Given the description of an element on the screen output the (x, y) to click on. 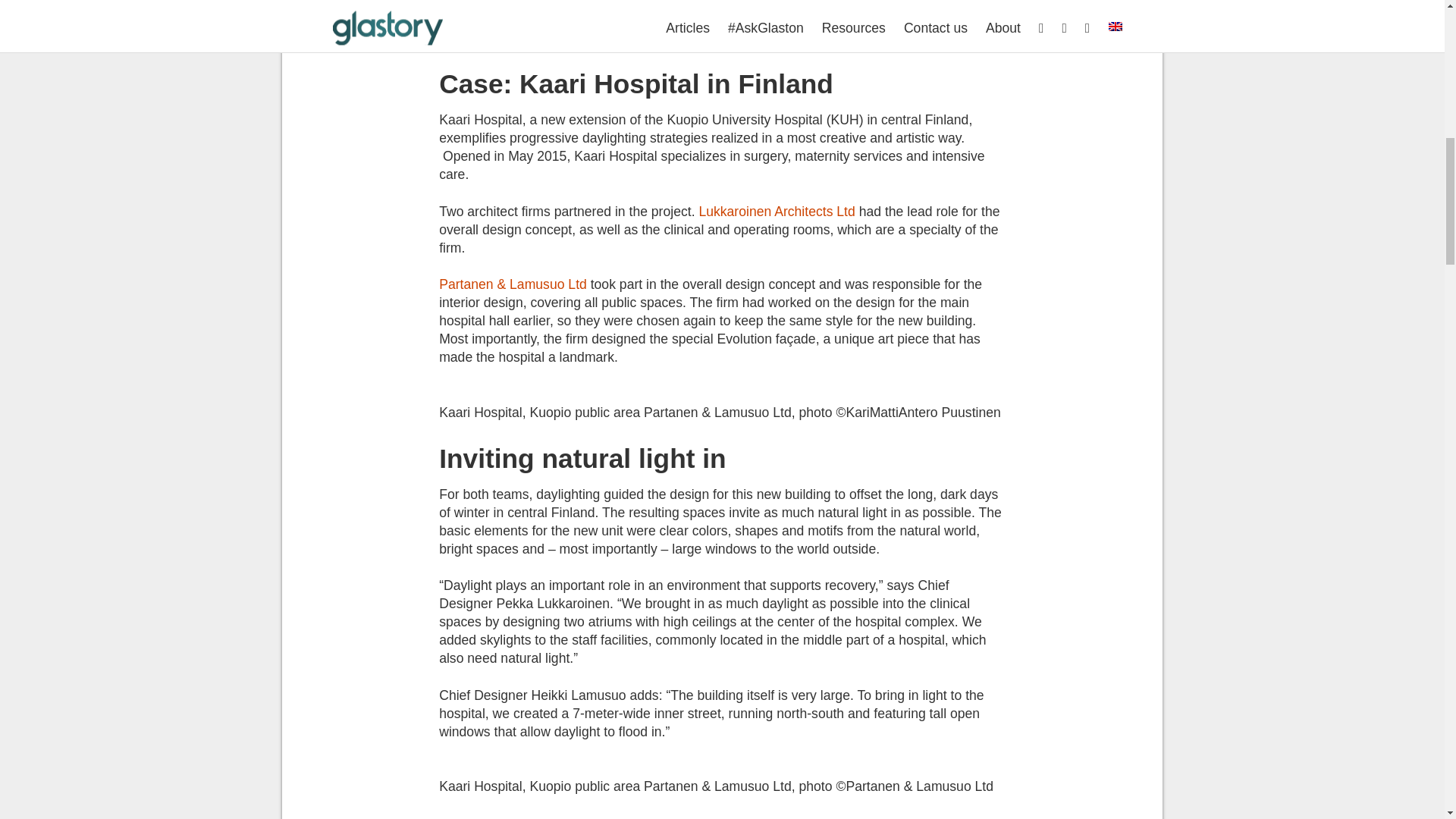
Lukkaroinen Architects Ltd (776, 211)
